Given the description of an element on the screen output the (x, y) to click on. 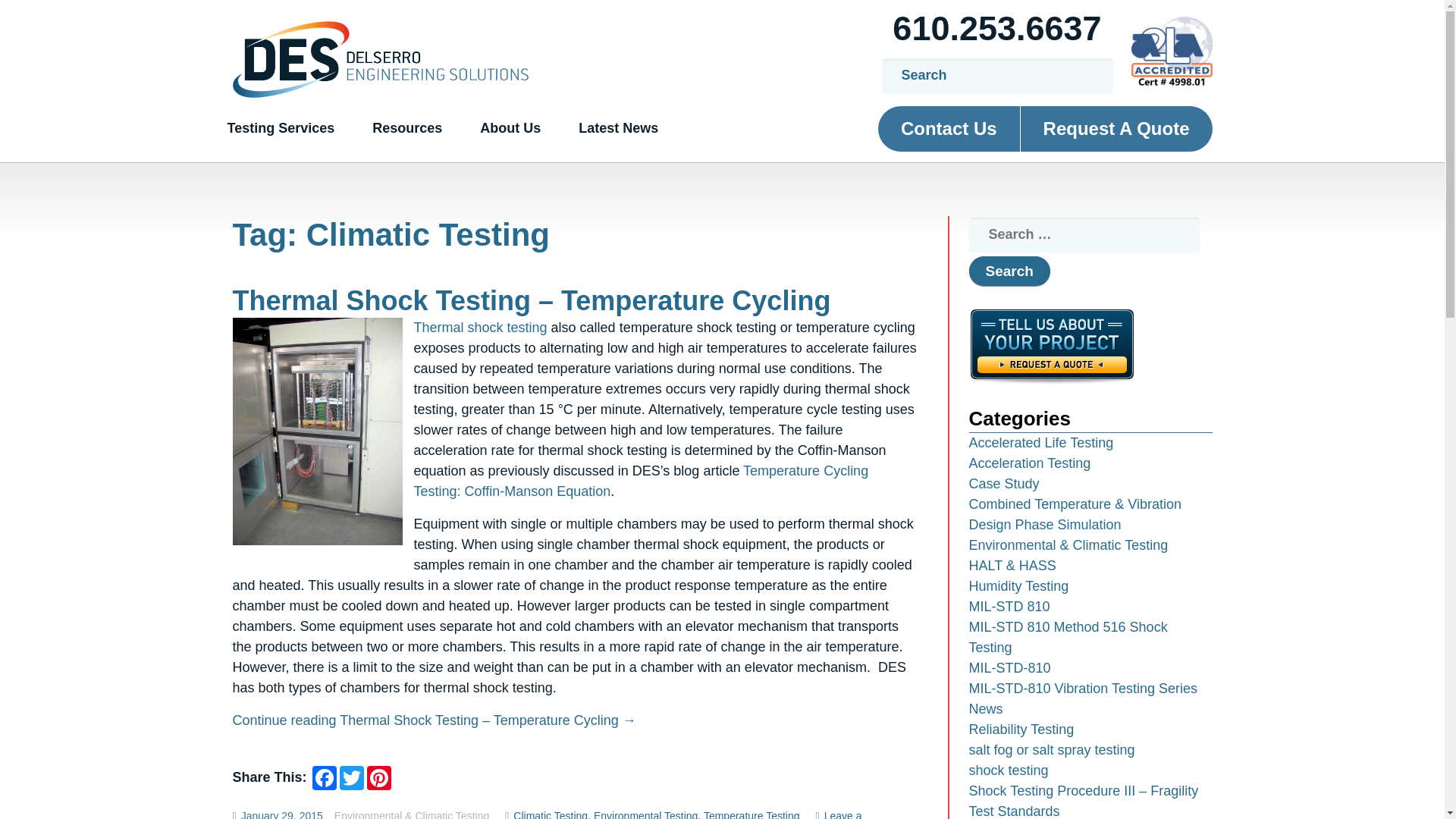
Resources (407, 128)
Search (1009, 270)
Go (1085, 75)
Search (1009, 270)
Testing Services (280, 128)
